Given the description of an element on the screen output the (x, y) to click on. 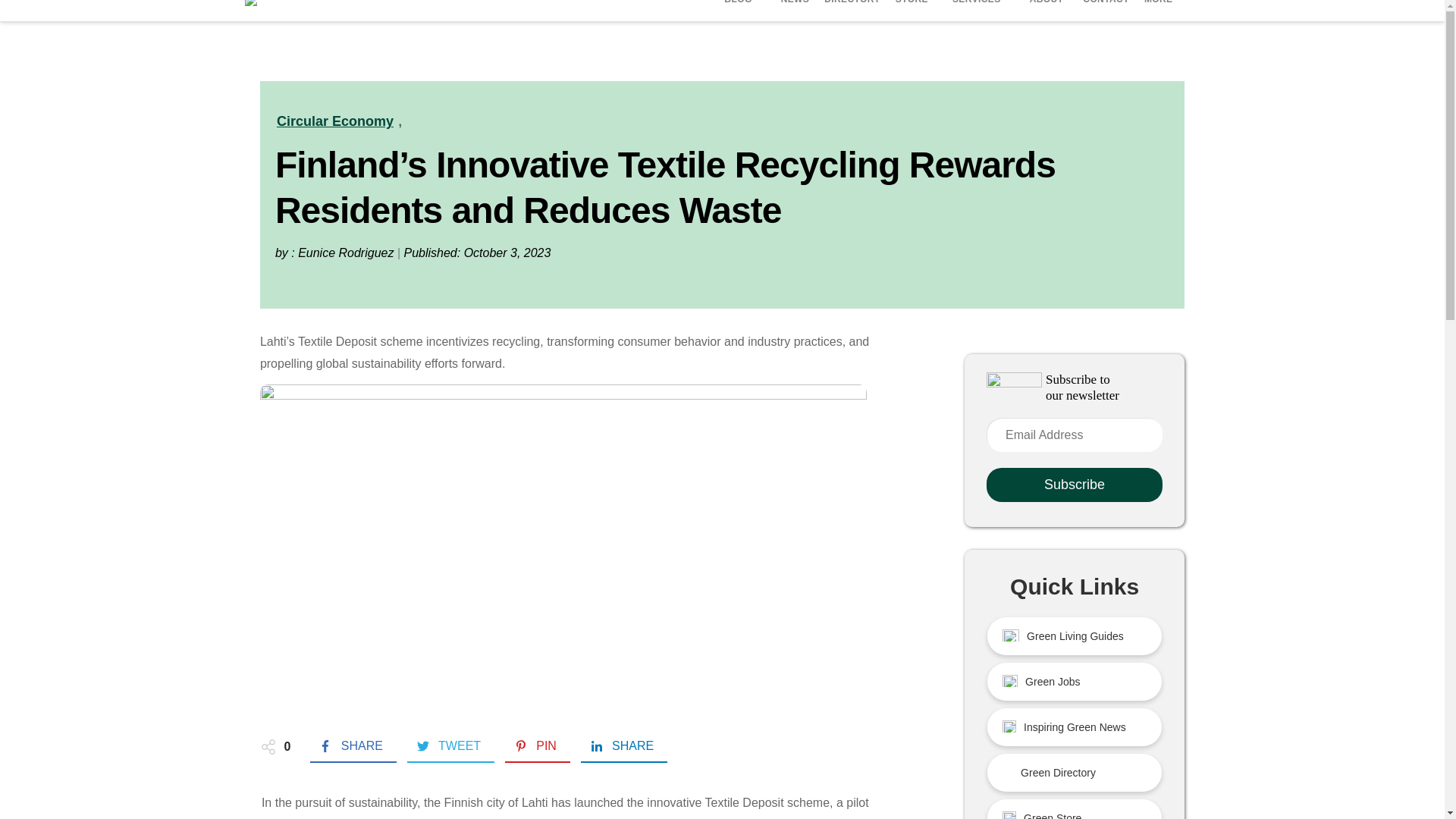
STORE (911, 6)
CONTACT (1106, 6)
SERVICES (978, 3)
MORE (1160, 6)
DIRECTORY (852, 6)
NEWS (794, 6)
Subscribe (1074, 484)
BLOG (739, 3)
ABOUT (1048, 6)
